Given the description of an element on the screen output the (x, y) to click on. 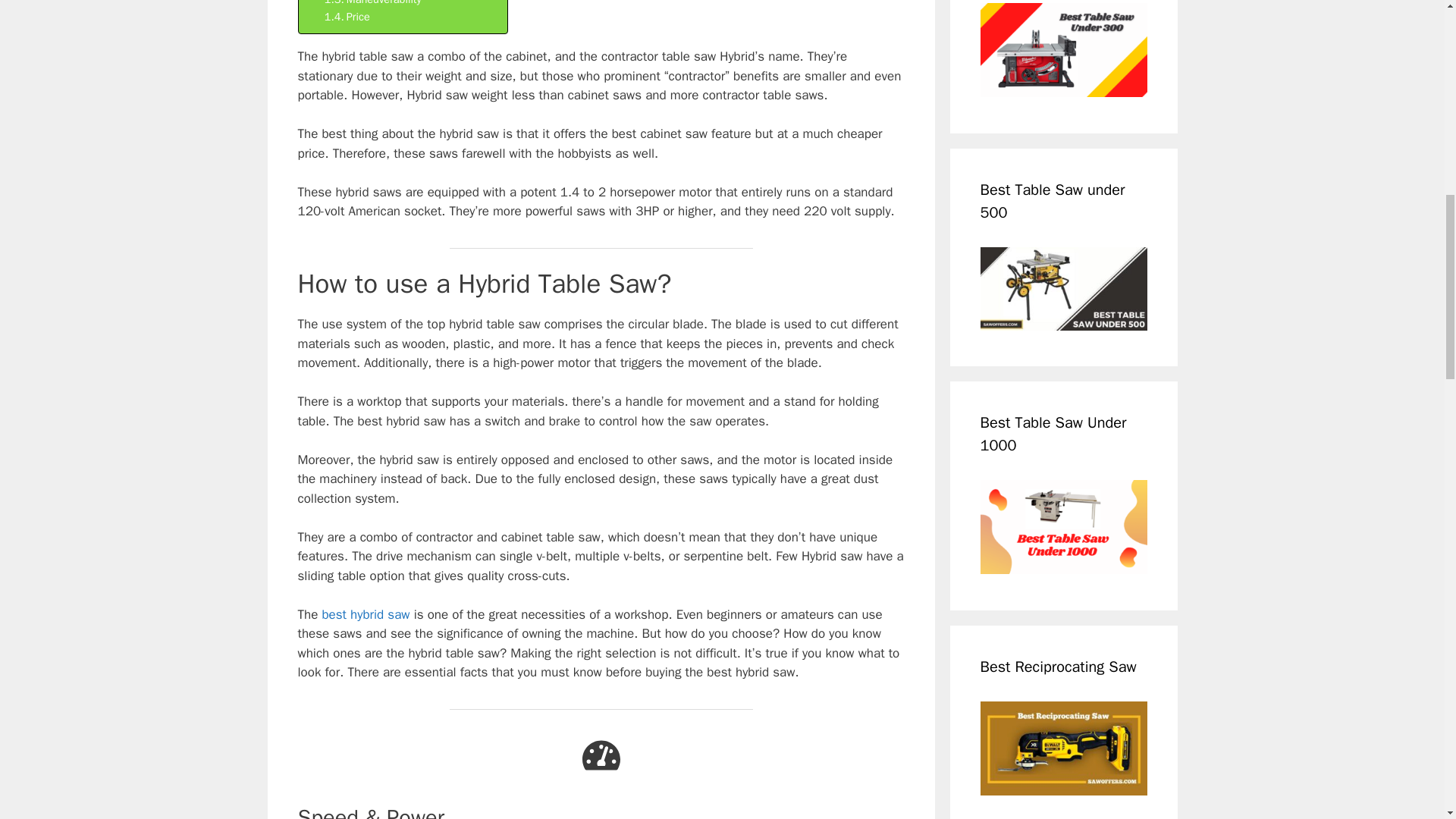
Best Table Saw under 500 (1063, 288)
Scroll back to top (1406, 720)
Price (346, 16)
Maneuverability (373, 4)
